Given the description of an element on the screen output the (x, y) to click on. 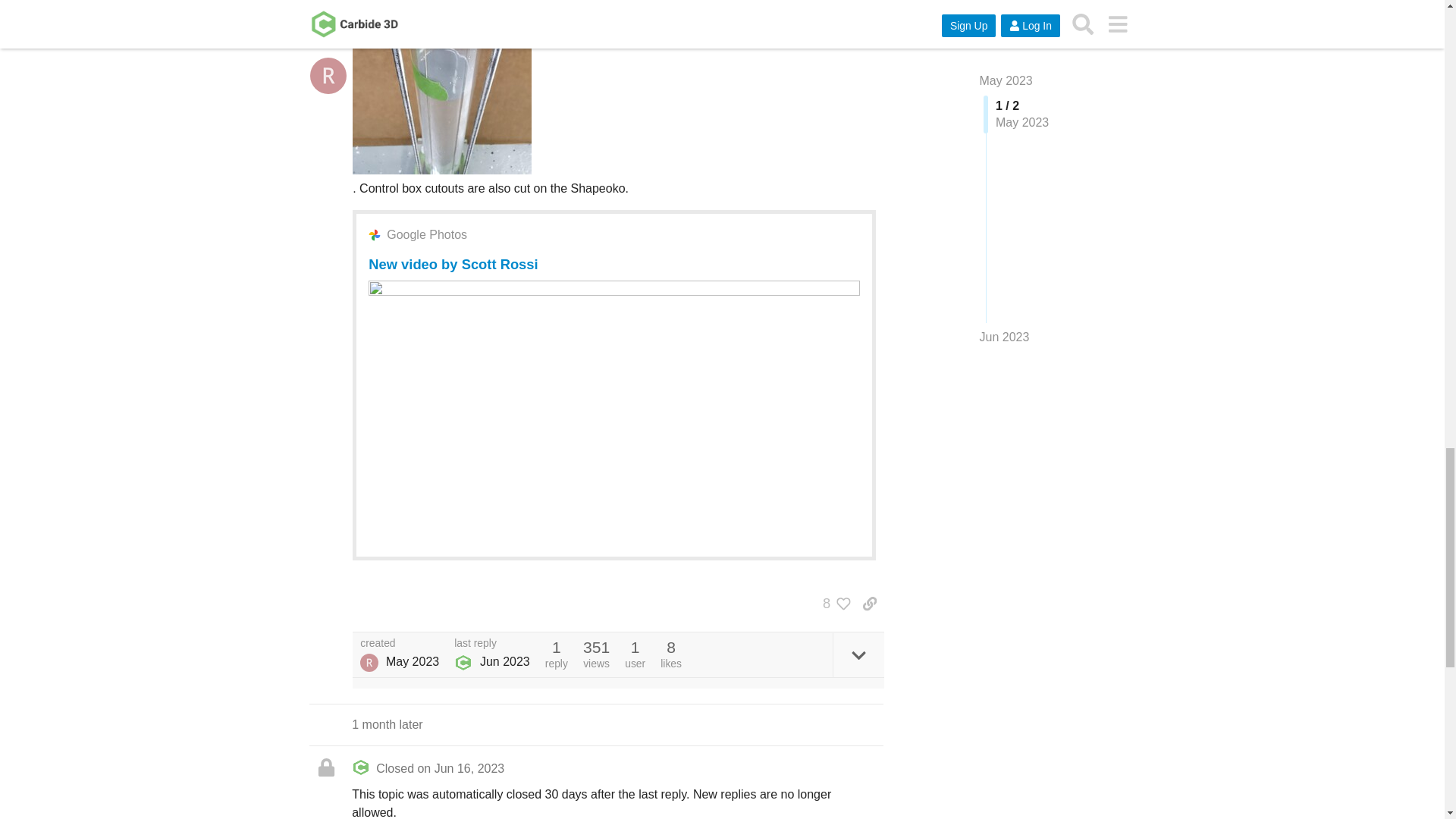
last reply (491, 643)
copy a link to this post to clipboard (869, 603)
8 people liked this post (832, 603)
8 (832, 603)
New video by Scott Rossi (452, 263)
Scott Rossi (368, 662)
expand topic details (857, 654)
Google Photos (427, 235)
